Given the description of an element on the screen output the (x, y) to click on. 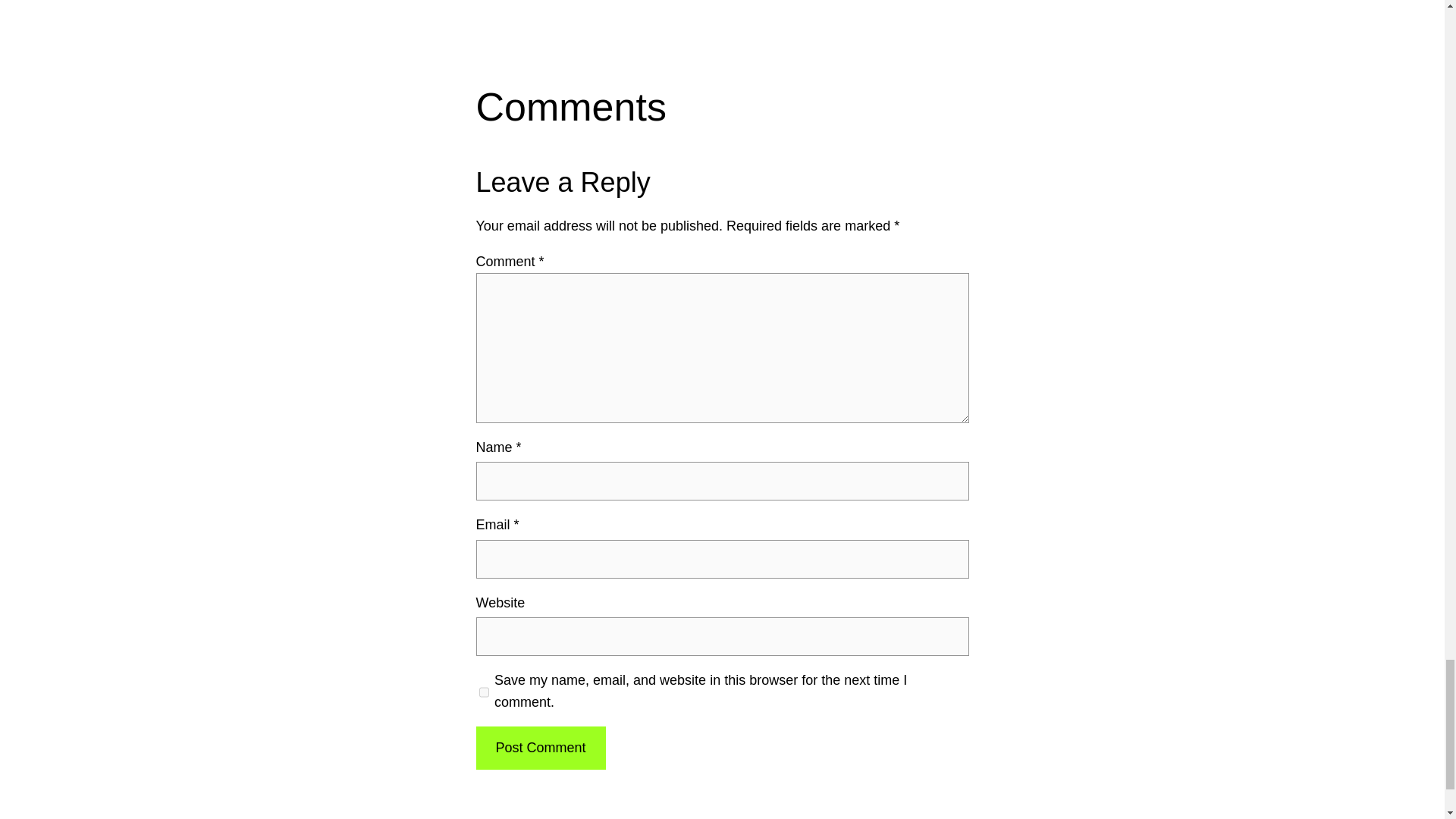
Post Comment (540, 747)
